Given the description of an element on the screen output the (x, y) to click on. 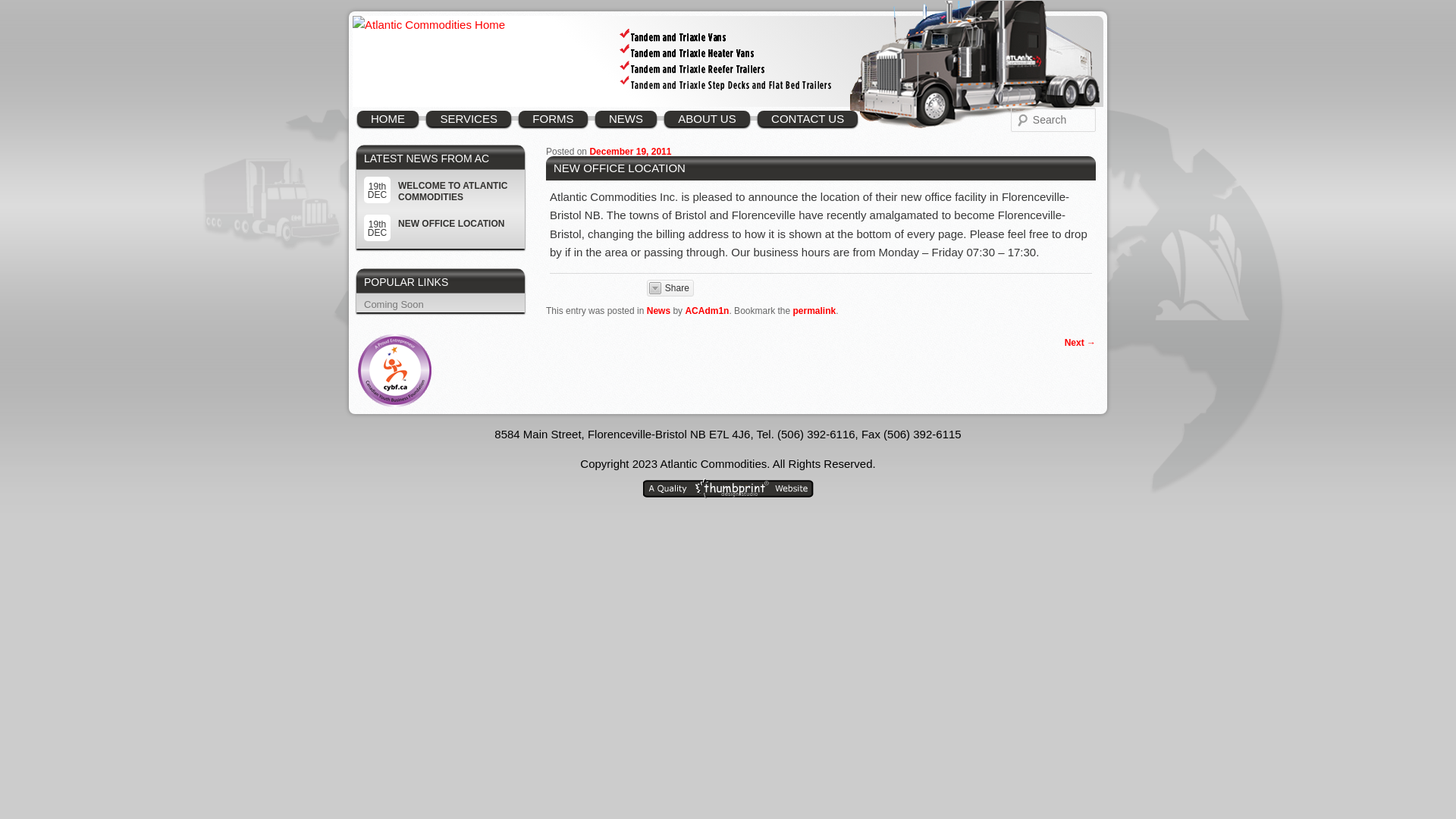
Skip to primary content Element type: text (434, 118)
NEWS Element type: text (625, 118)
Canadian Youth Business Foundation Element type: hover (394, 370)
permalink Element type: text (814, 310)
ABOUT US Element type: text (706, 118)
Share Element type: text (669, 287)
December 19, 2011 Element type: text (630, 151)
Skip to secondary content Element type: text (441, 118)
WELCOME TO ATLANTIC COMMODITIES Element type: text (452, 191)
Atlantic Commodities Home Element type: hover (428, 24)
FORMS Element type: text (552, 118)
SERVICES Element type: text (468, 118)
Search Element type: text (24, 8)
ACAdm1n Element type: text (706, 310)
HOME Element type: text (387, 118)
News Element type: text (658, 310)
NEW OFFICE LOCATION Element type: text (451, 223)
CONTACT US Element type: text (807, 118)
A Quality Thumbprint Design Studio Website. Click to visit. Element type: hover (728, 487)
